Given the description of an element on the screen output the (x, y) to click on. 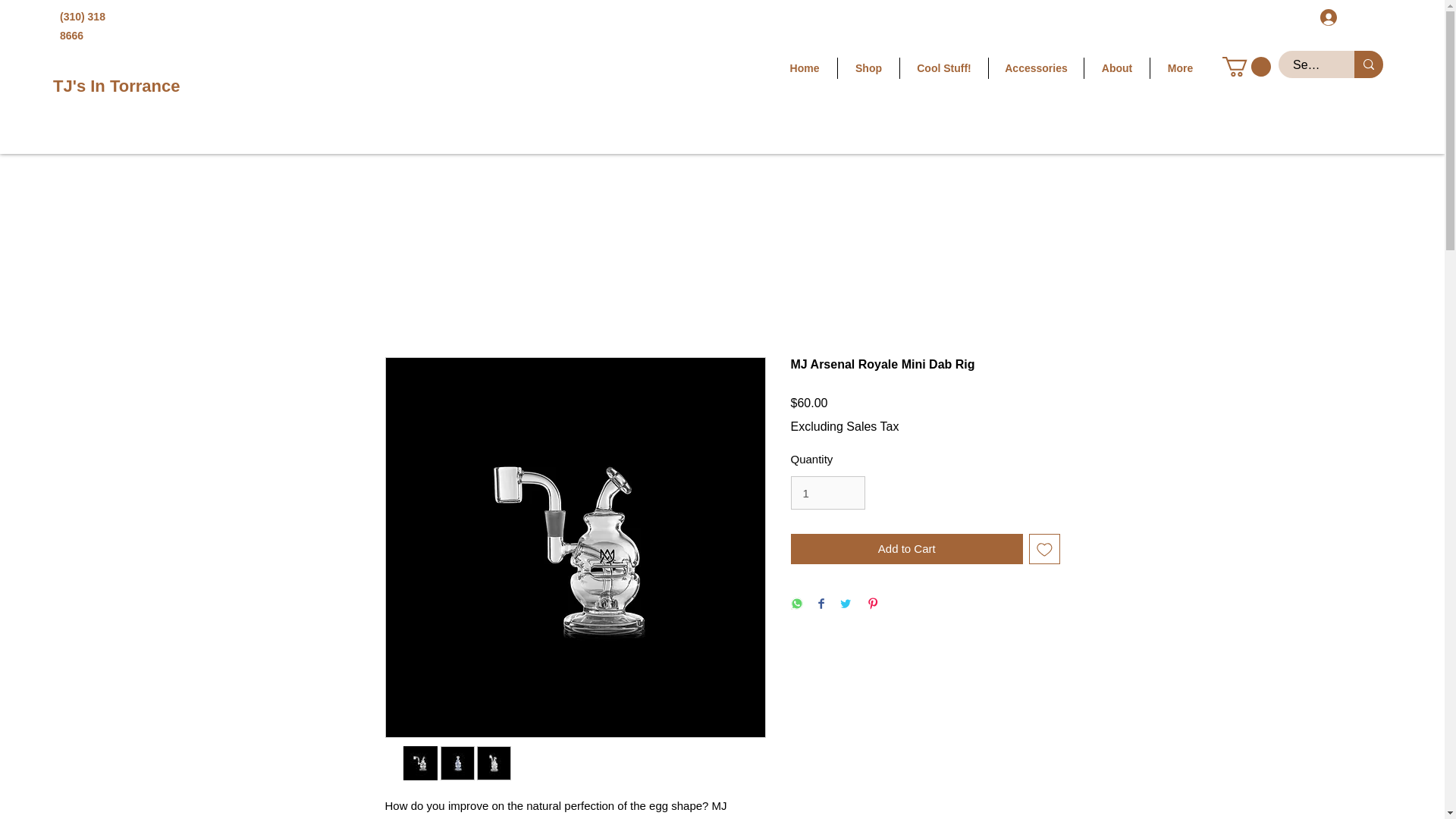
TJ's In Torrance (115, 85)
1 (827, 492)
Log In (1347, 17)
Shop (868, 67)
Home (804, 67)
Cool Stuff! (943, 67)
Accessories (1035, 67)
About (1117, 67)
